Given the description of an element on the screen output the (x, y) to click on. 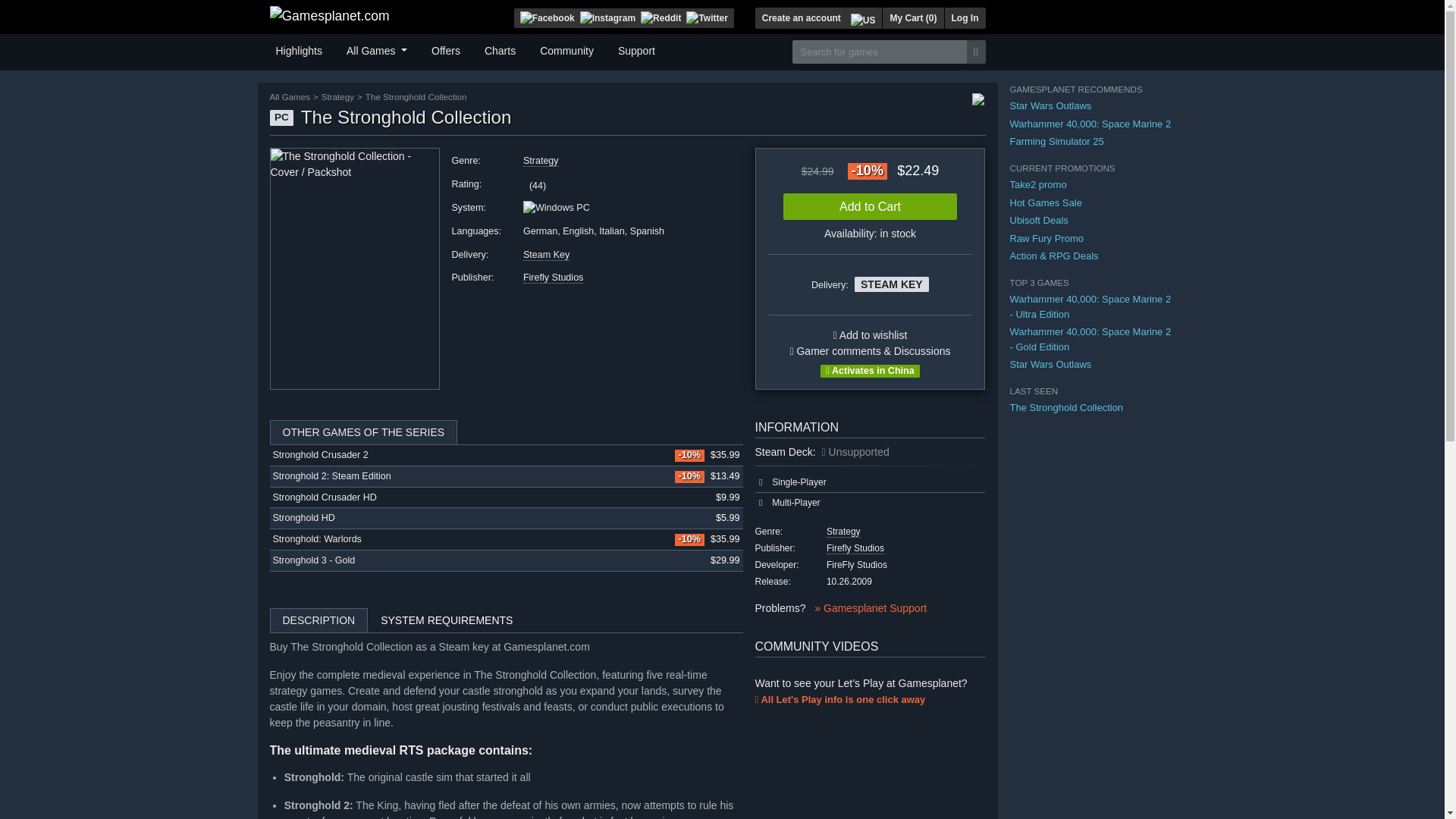
Highlights (299, 48)
Log In (964, 17)
All Games (376, 48)
OTHER GAMES OF THE SERIES (505, 432)
Create an account (801, 17)
